Given the description of an element on the screen output the (x, y) to click on. 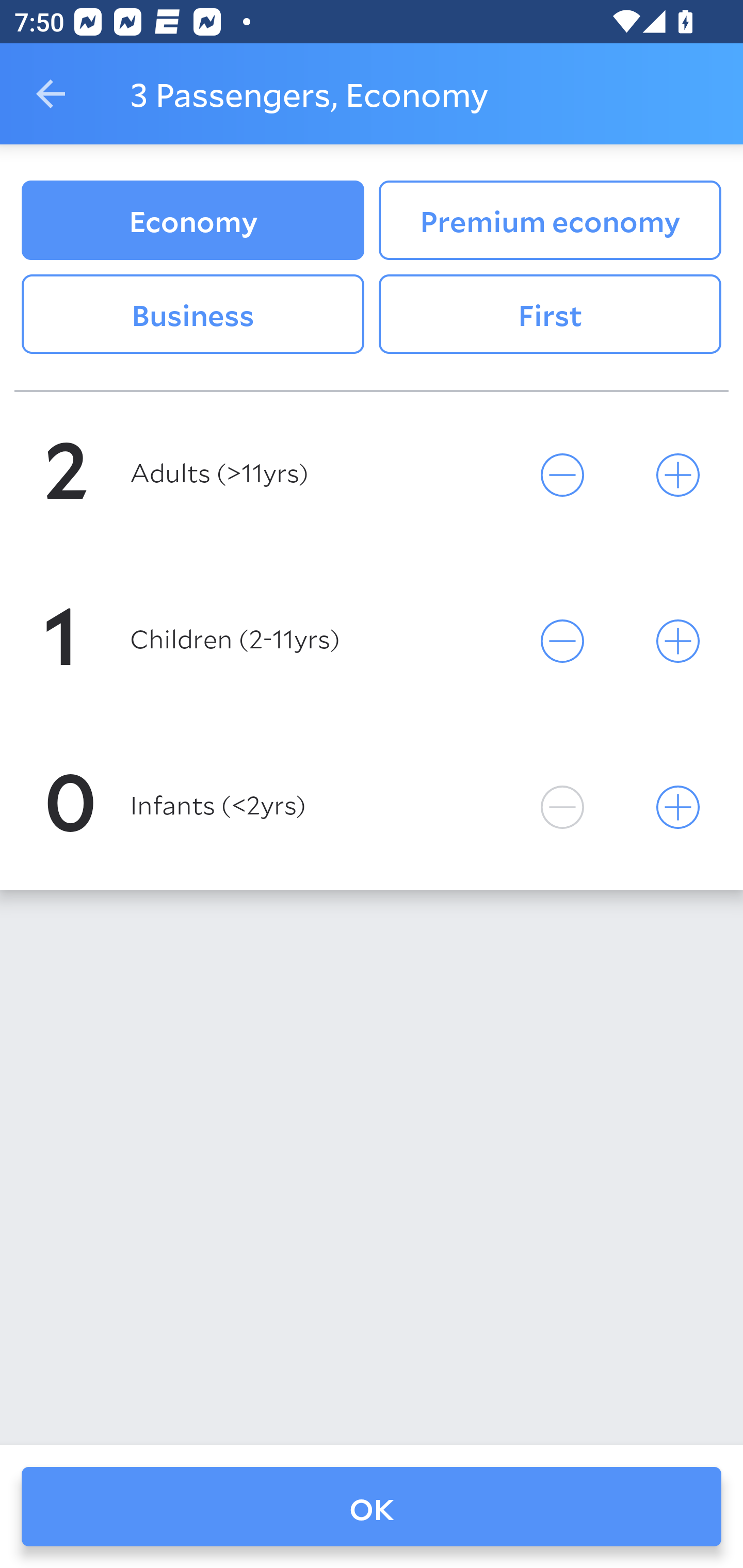
Navigate up (50, 93)
Economy (192, 220)
Premium economy (549, 220)
Business (192, 314)
First (549, 314)
OK (371, 1506)
